Given the description of an element on the screen output the (x, y) to click on. 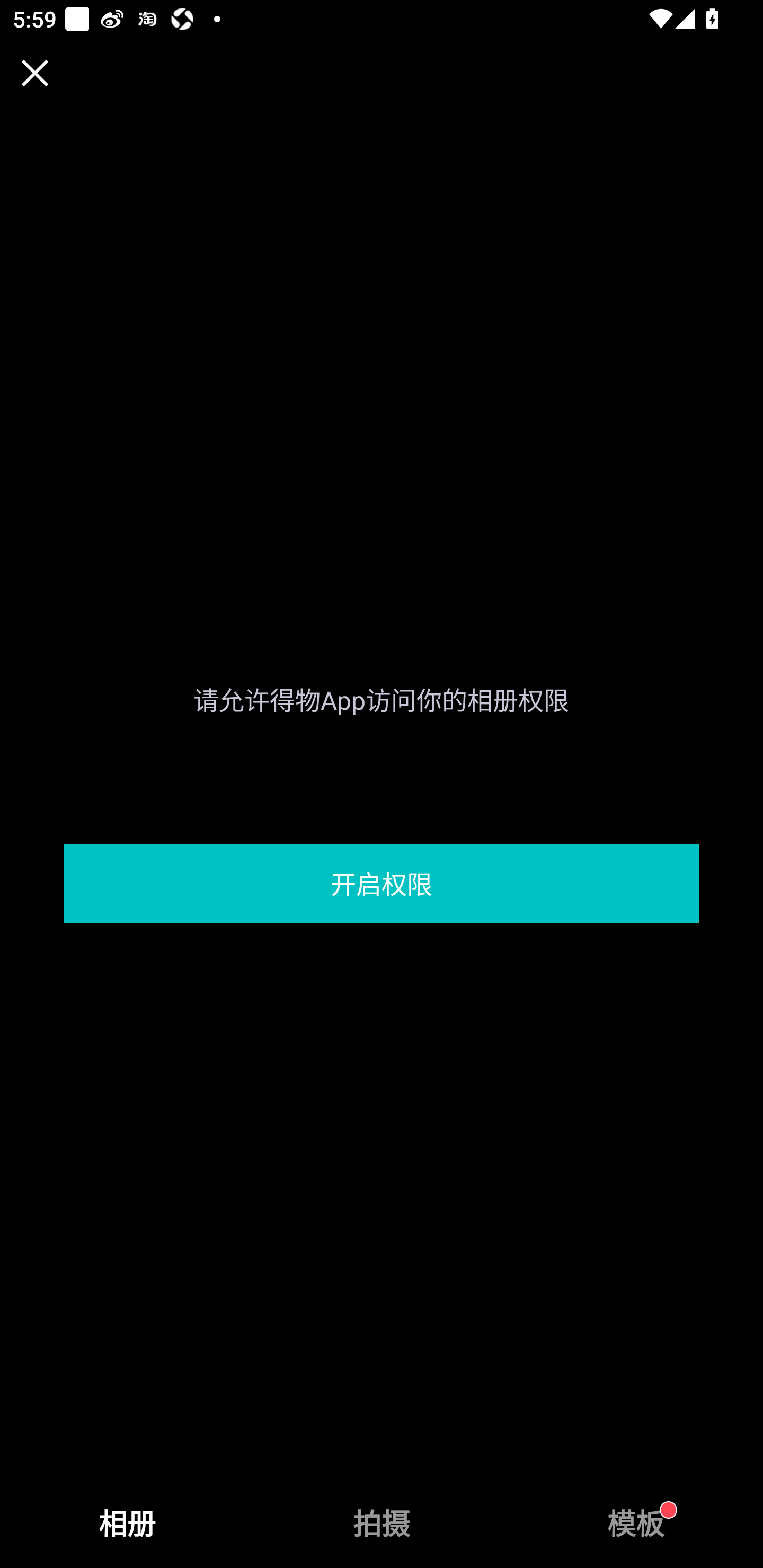
开启权限 (381, 884)
相册 (127, 1523)
拍摄 (381, 1523)
模板 (635, 1523)
